Given the description of an element on the screen output the (x, y) to click on. 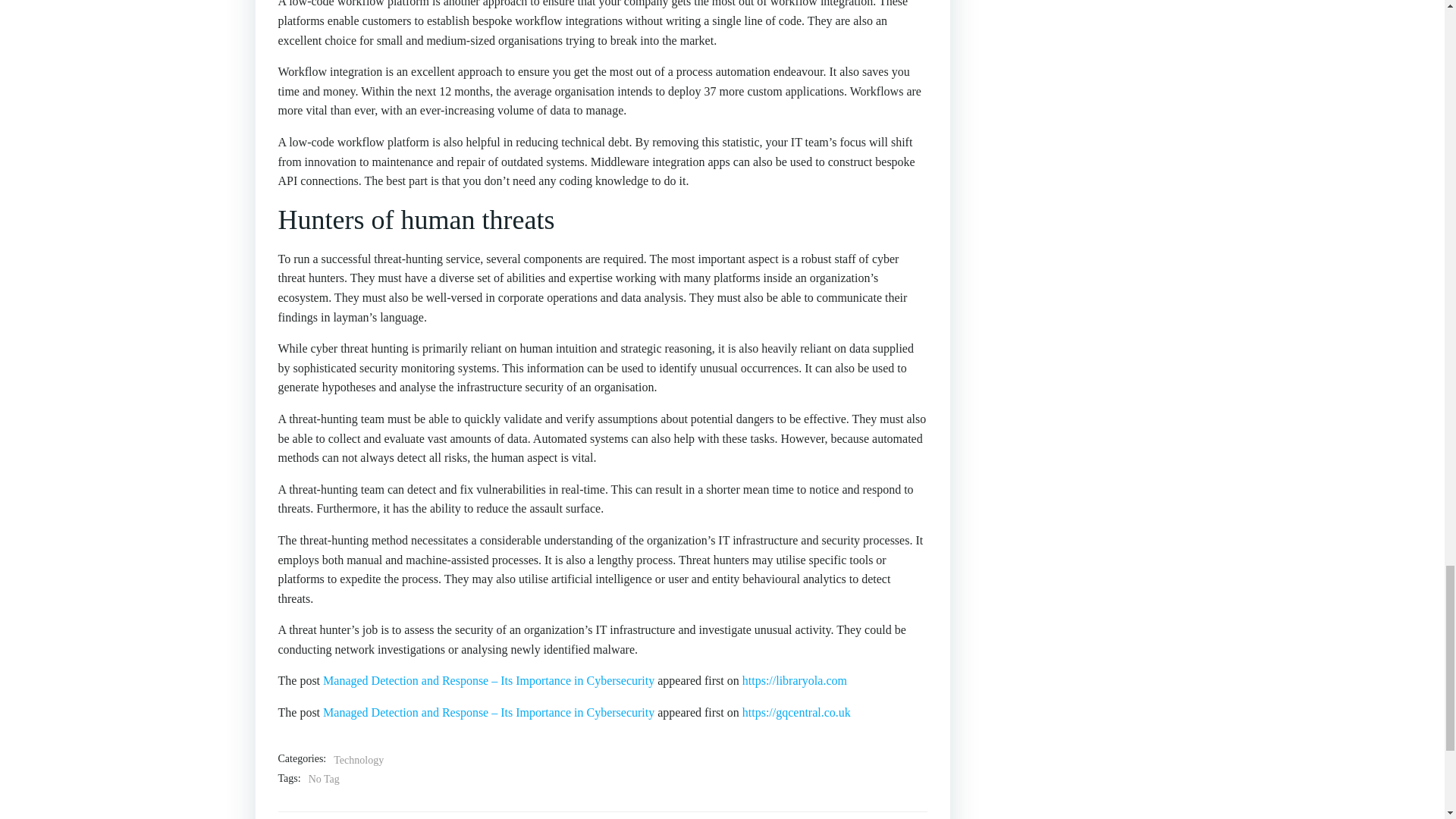
Technology (358, 760)
